Given the description of an element on the screen output the (x, y) to click on. 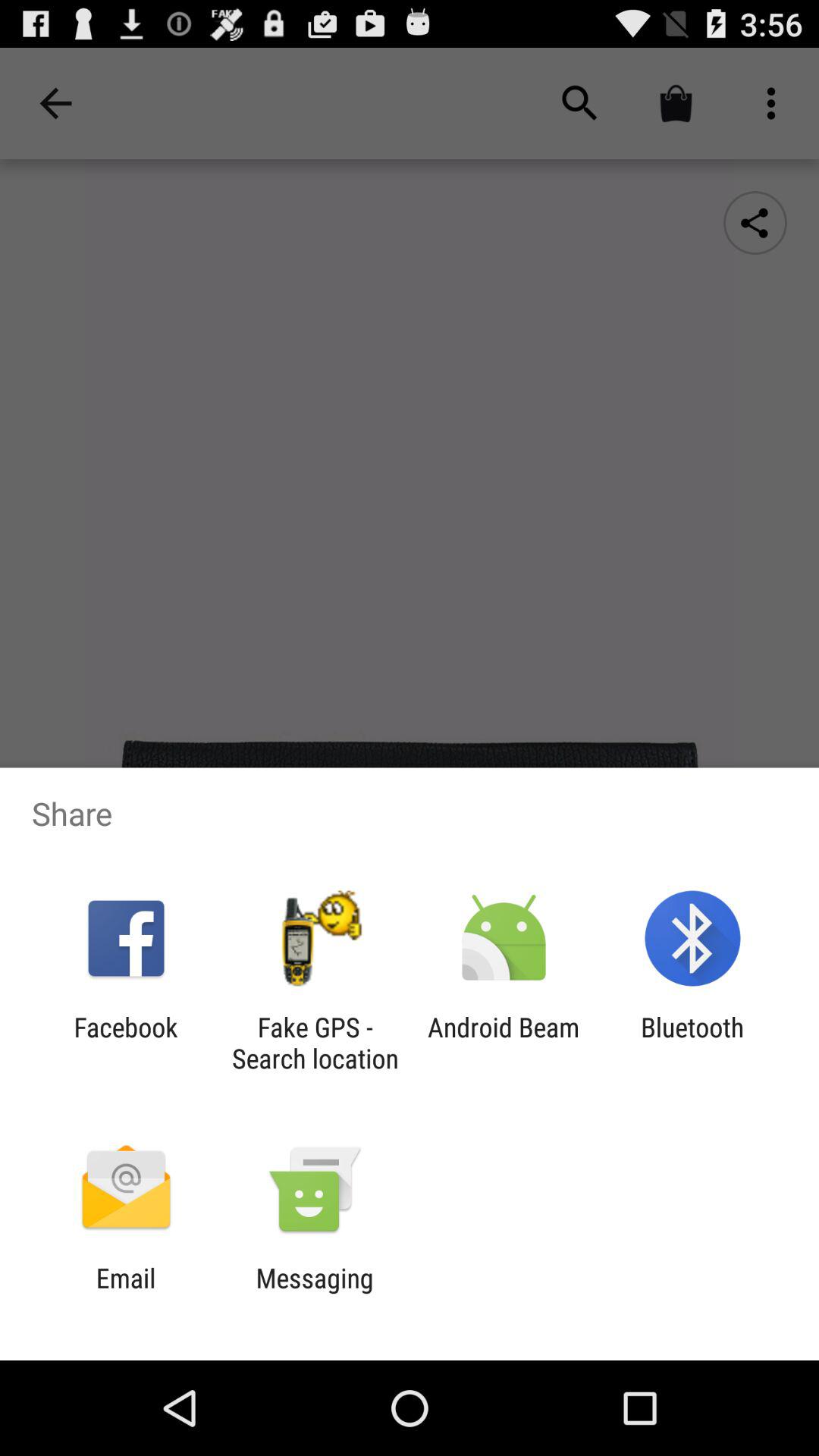
open the icon to the right of the email (314, 1293)
